Given the description of an element on the screen output the (x, y) to click on. 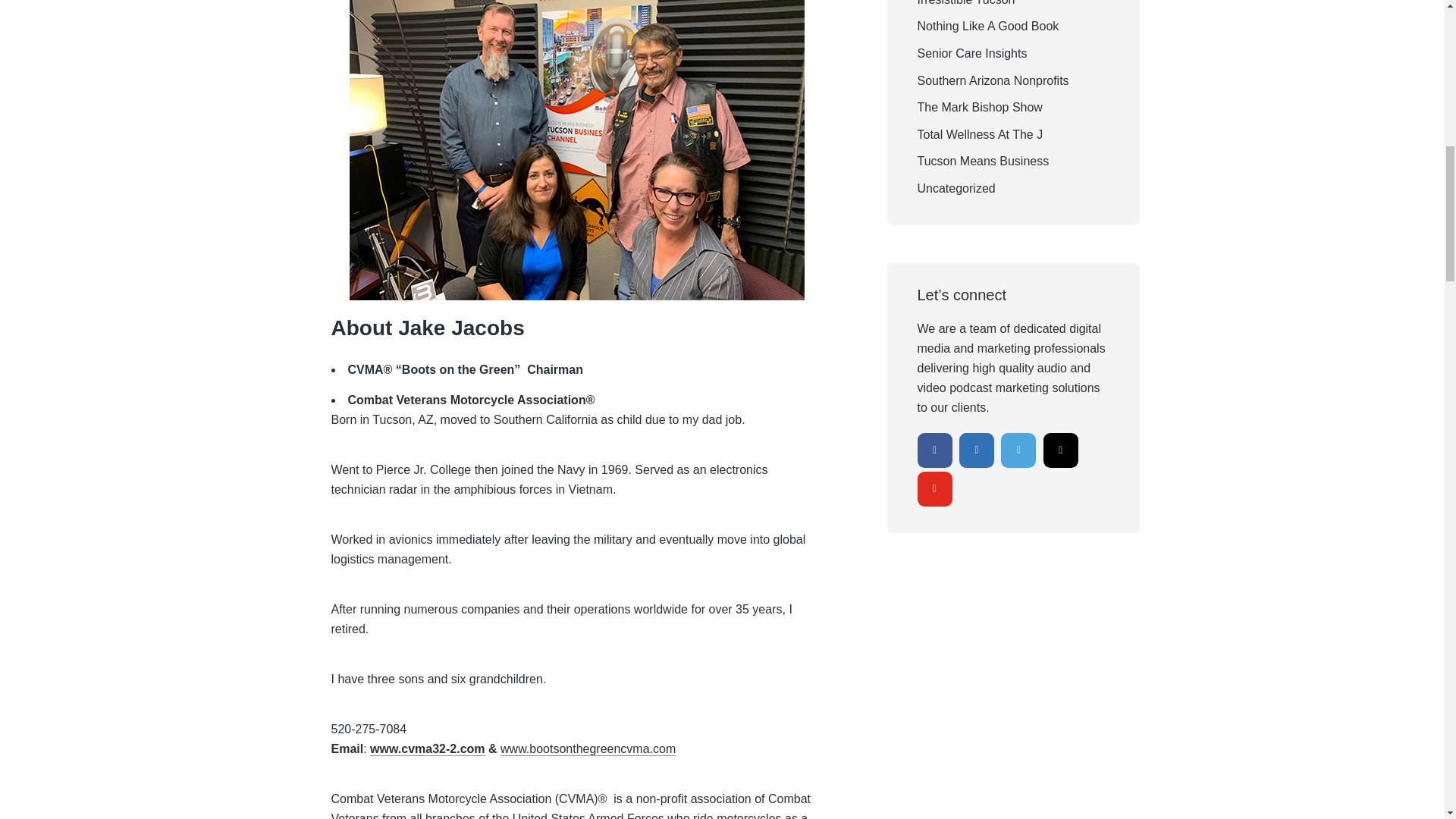
share (1406, 44)
Linkedin (976, 449)
Twitter (1018, 449)
Instagram (1060, 449)
Facebook (934, 449)
Subscribe (1361, 44)
YouTube (934, 488)
